Given the description of an element on the screen output the (x, y) to click on. 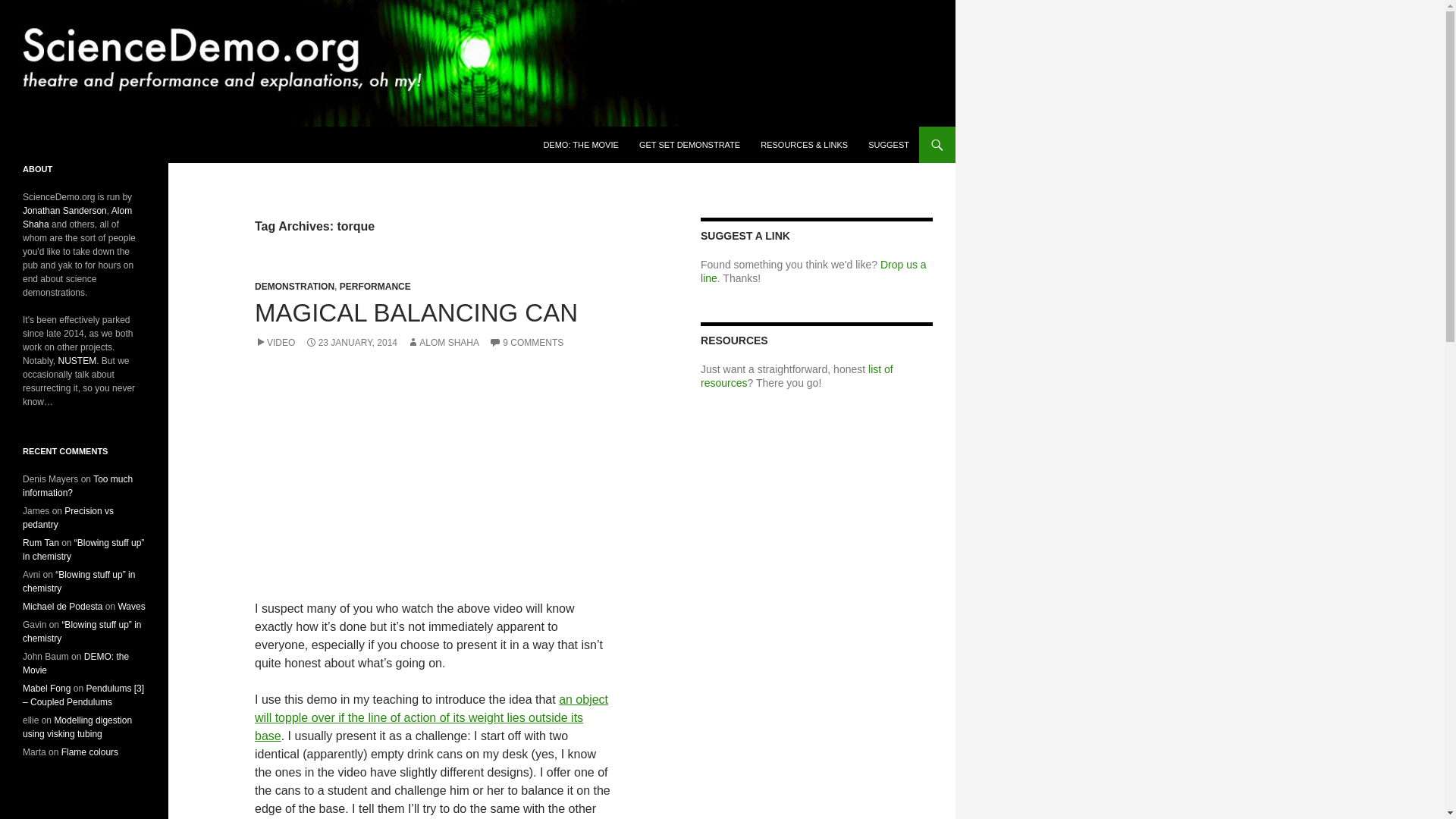
Jonathan Sanderson (64, 210)
9 COMMENTS (526, 342)
MAGICAL BALANCING CAN (416, 312)
ALOM SHAHA (443, 342)
Precision vs pedantry (68, 517)
Waves (130, 606)
Michael de Podesta (62, 606)
NUSTEM (77, 360)
